Given the description of an element on the screen output the (x, y) to click on. 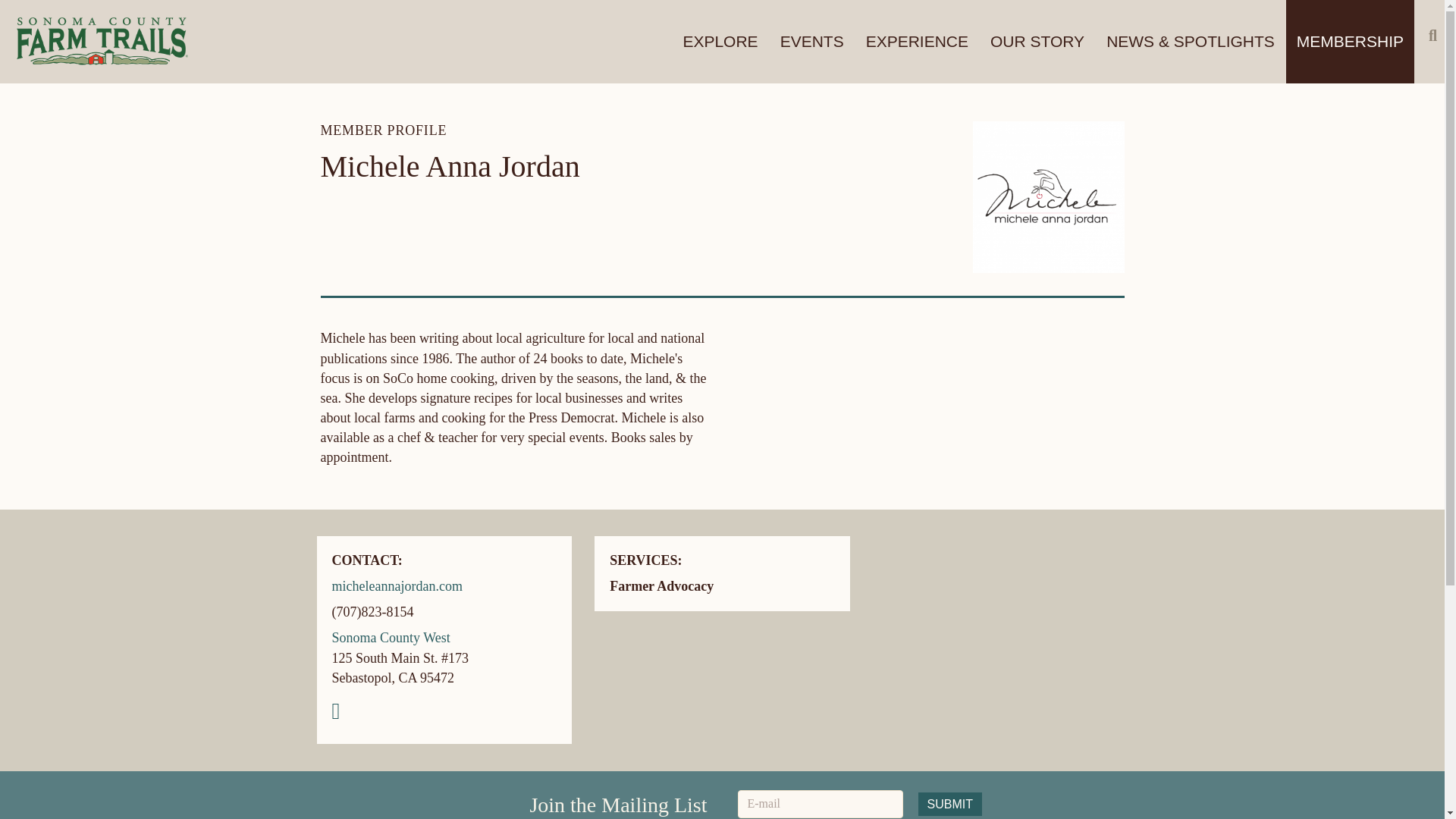
SUBMIT (949, 803)
EXPERIENCE (917, 41)
FarmTrailsheaderlogo (101, 41)
michele anna jordan (1048, 196)
EVENTS (812, 41)
OUR STORY (1036, 41)
EXPLORE (719, 41)
